Given the description of an element on the screen output the (x, y) to click on. 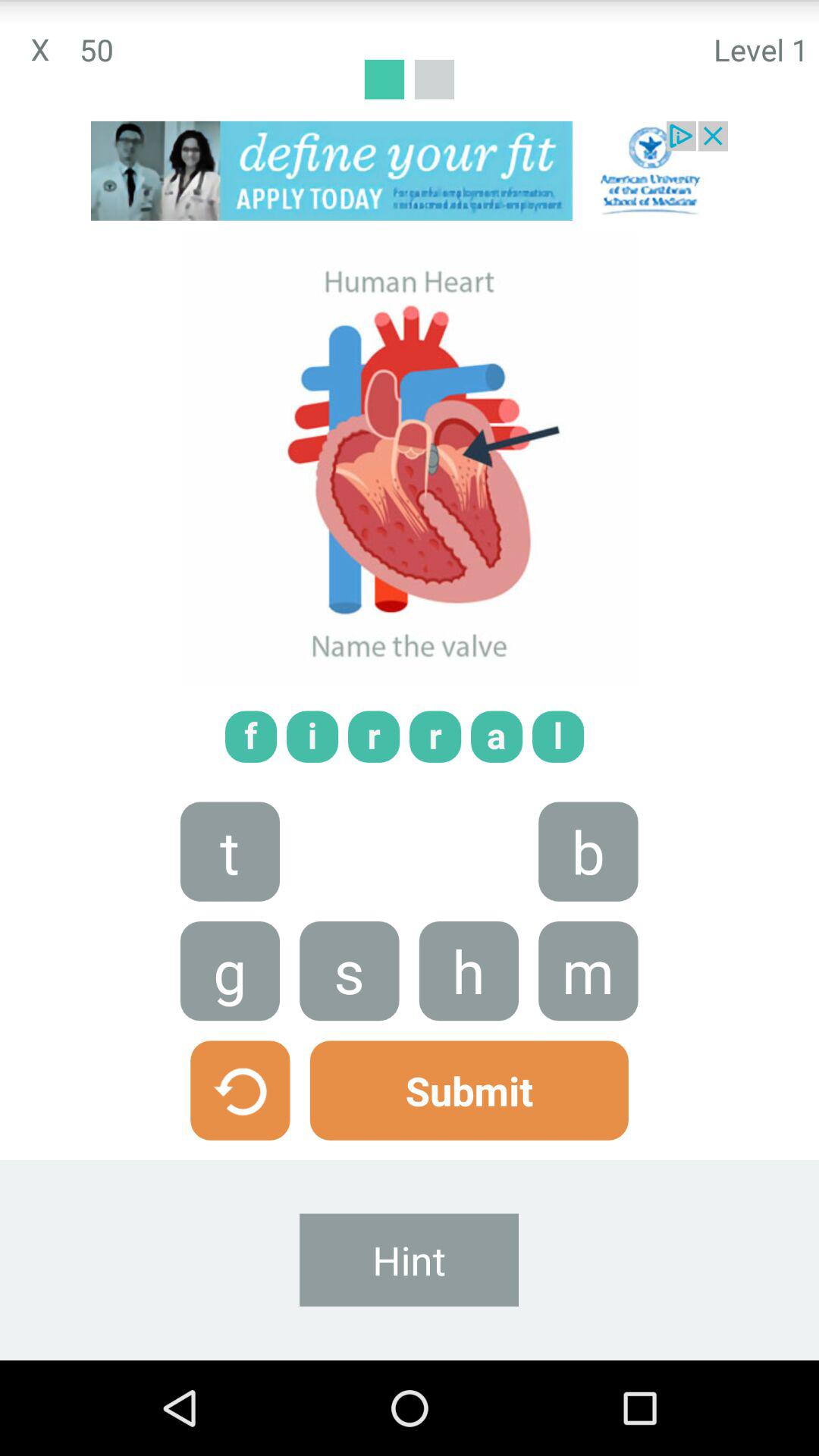
advertisement (409, 170)
